Given the description of an element on the screen output the (x, y) to click on. 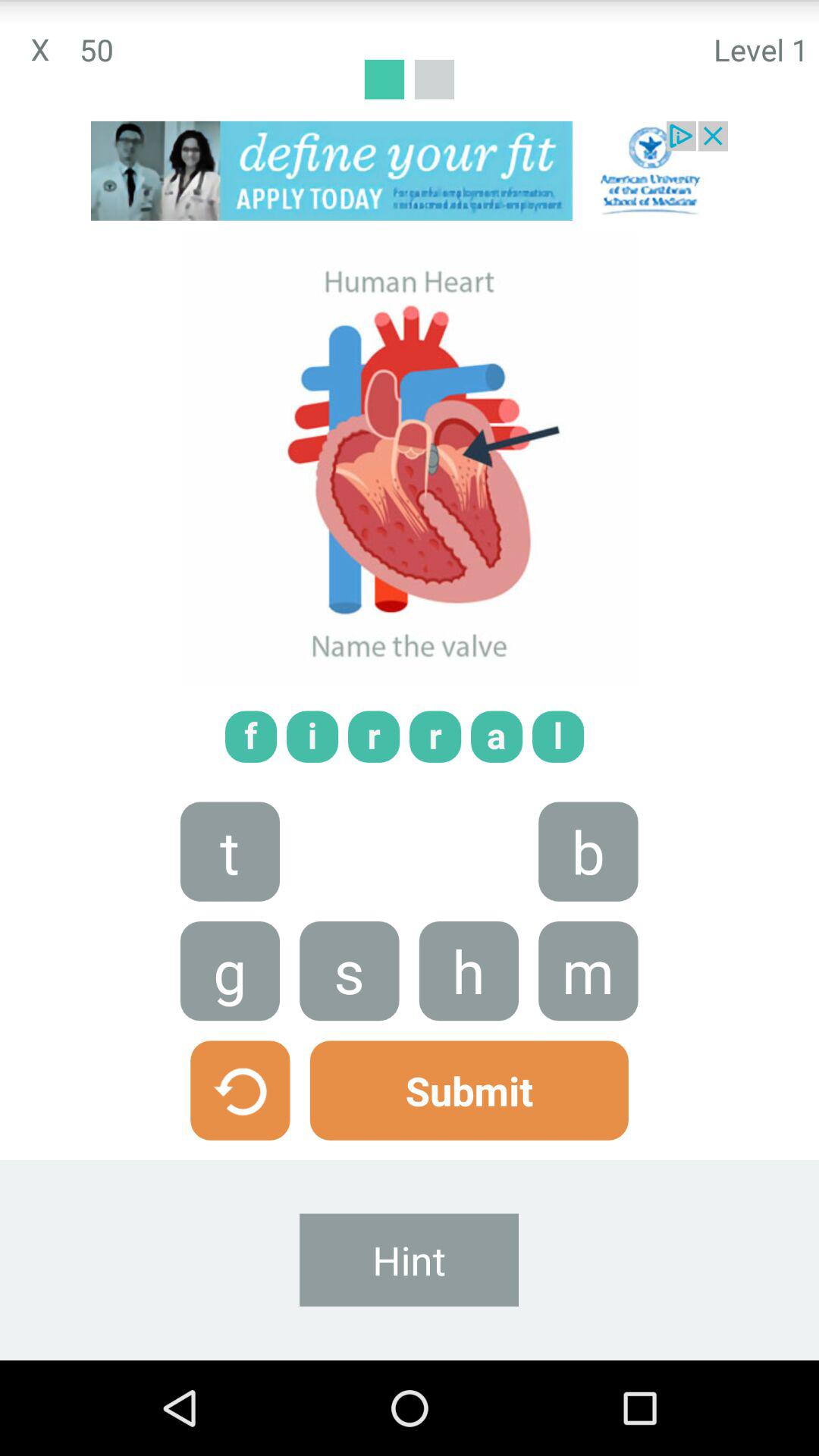
advertisement (409, 170)
